Given the description of an element on the screen output the (x, y) to click on. 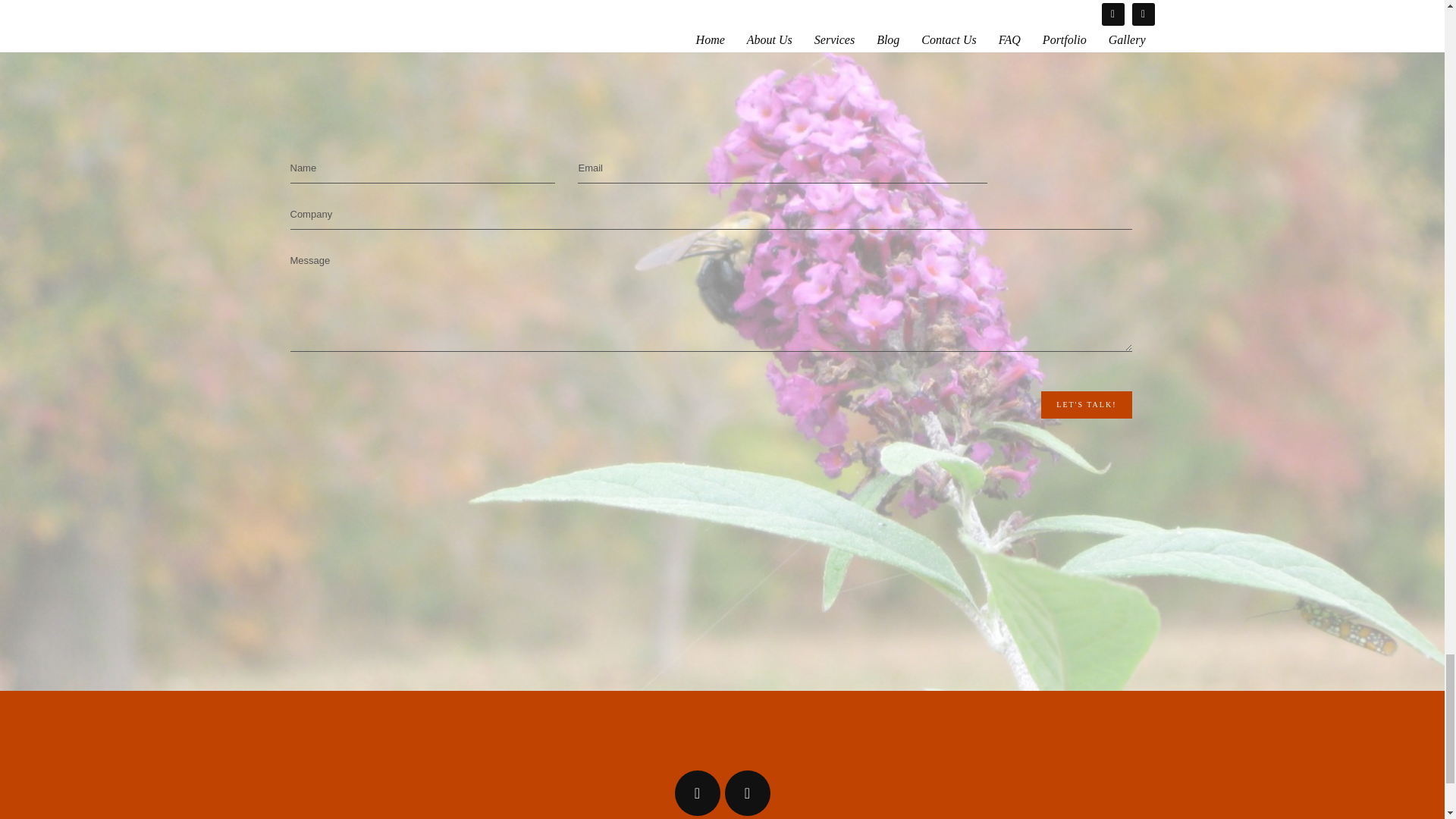
LET'S TALK! (1086, 404)
